Given the description of an element on the screen output the (x, y) to click on. 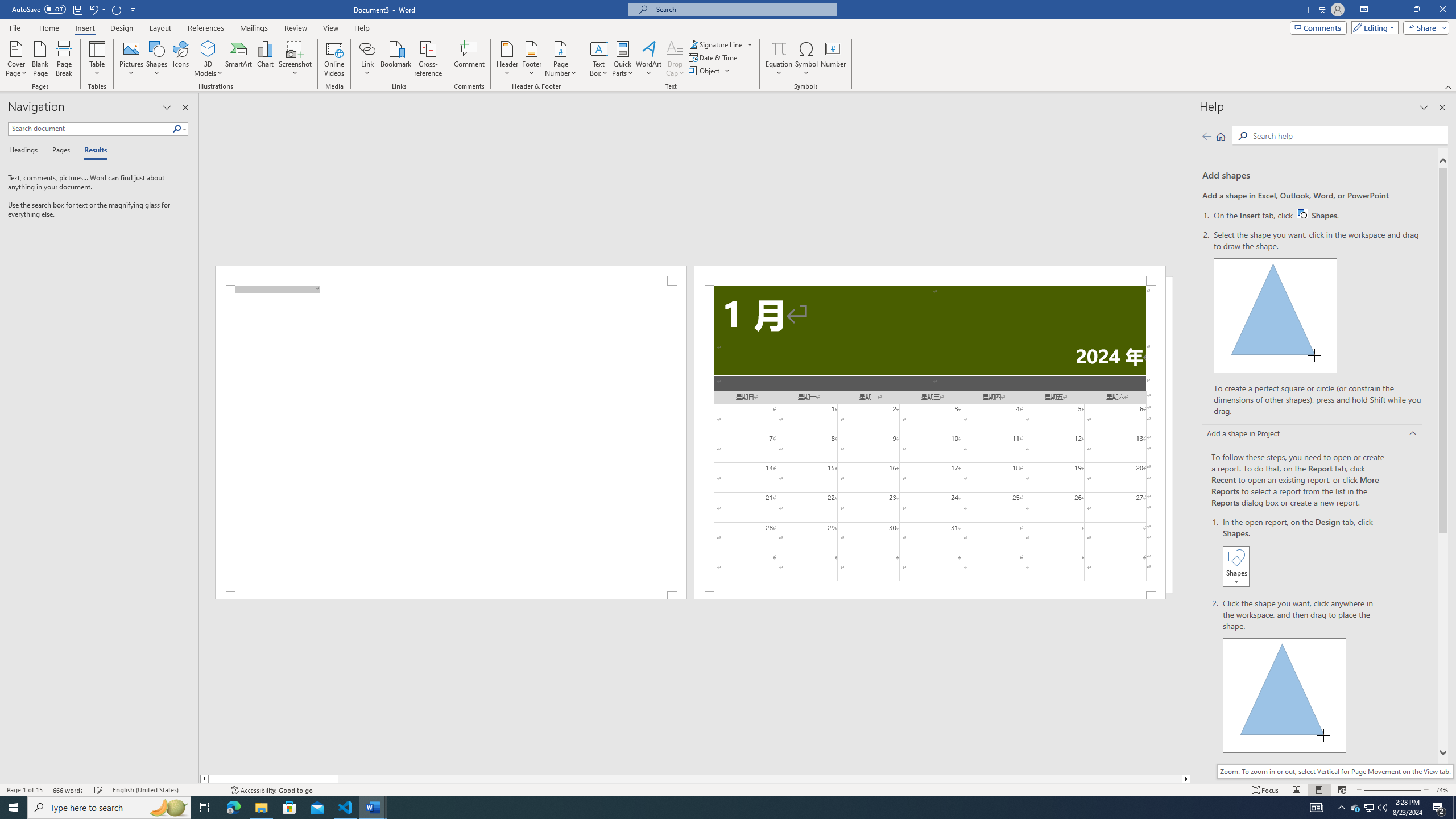
Column right (1186, 778)
Drawing a shape (1284, 695)
Object... (705, 69)
Column left (203, 778)
Page right (759, 778)
Page Break (63, 58)
Footer (531, 58)
